Given the description of an element on the screen output the (x, y) to click on. 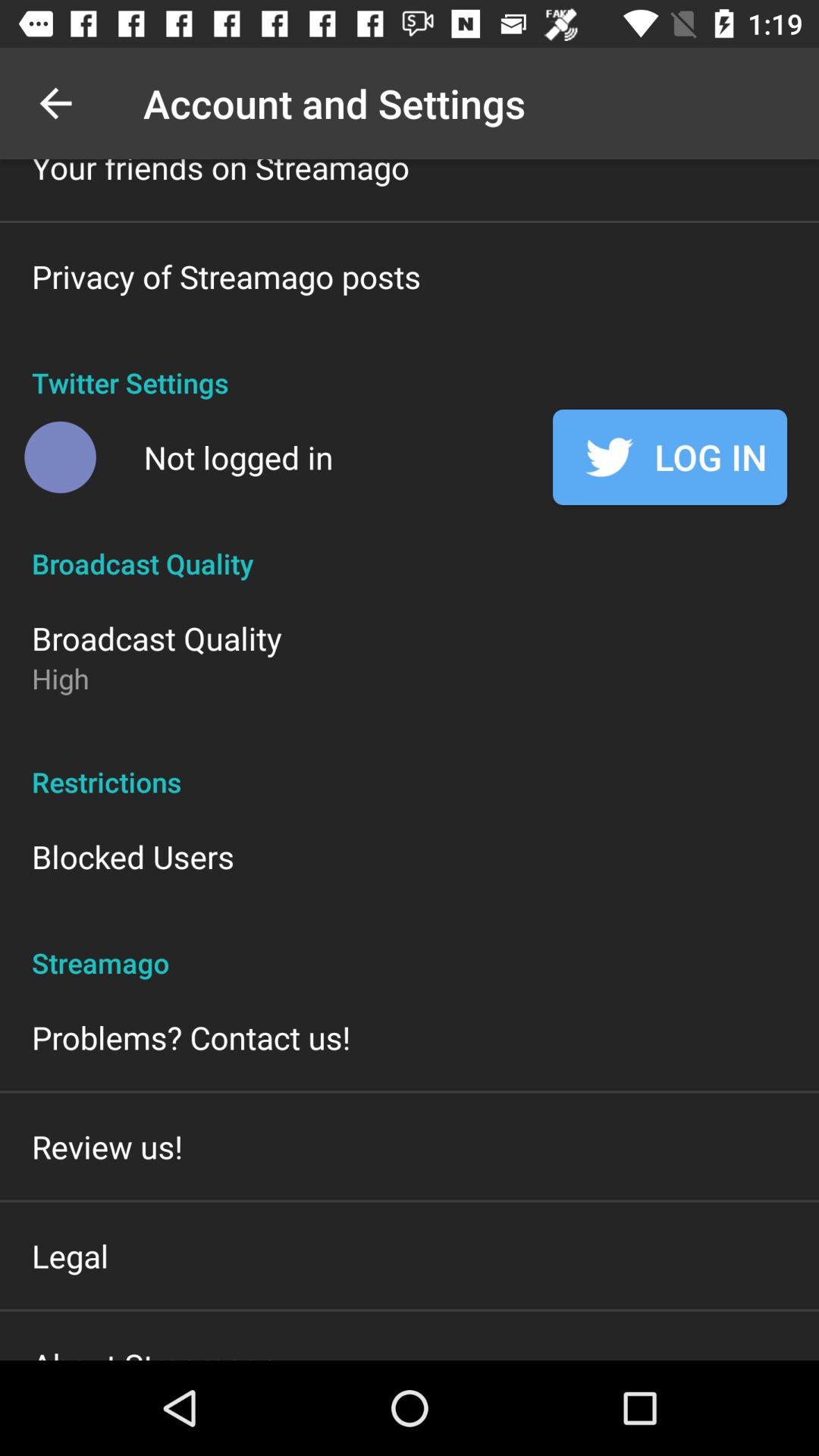
tap the item above the your friends on icon (55, 103)
